Given the description of an element on the screen output the (x, y) to click on. 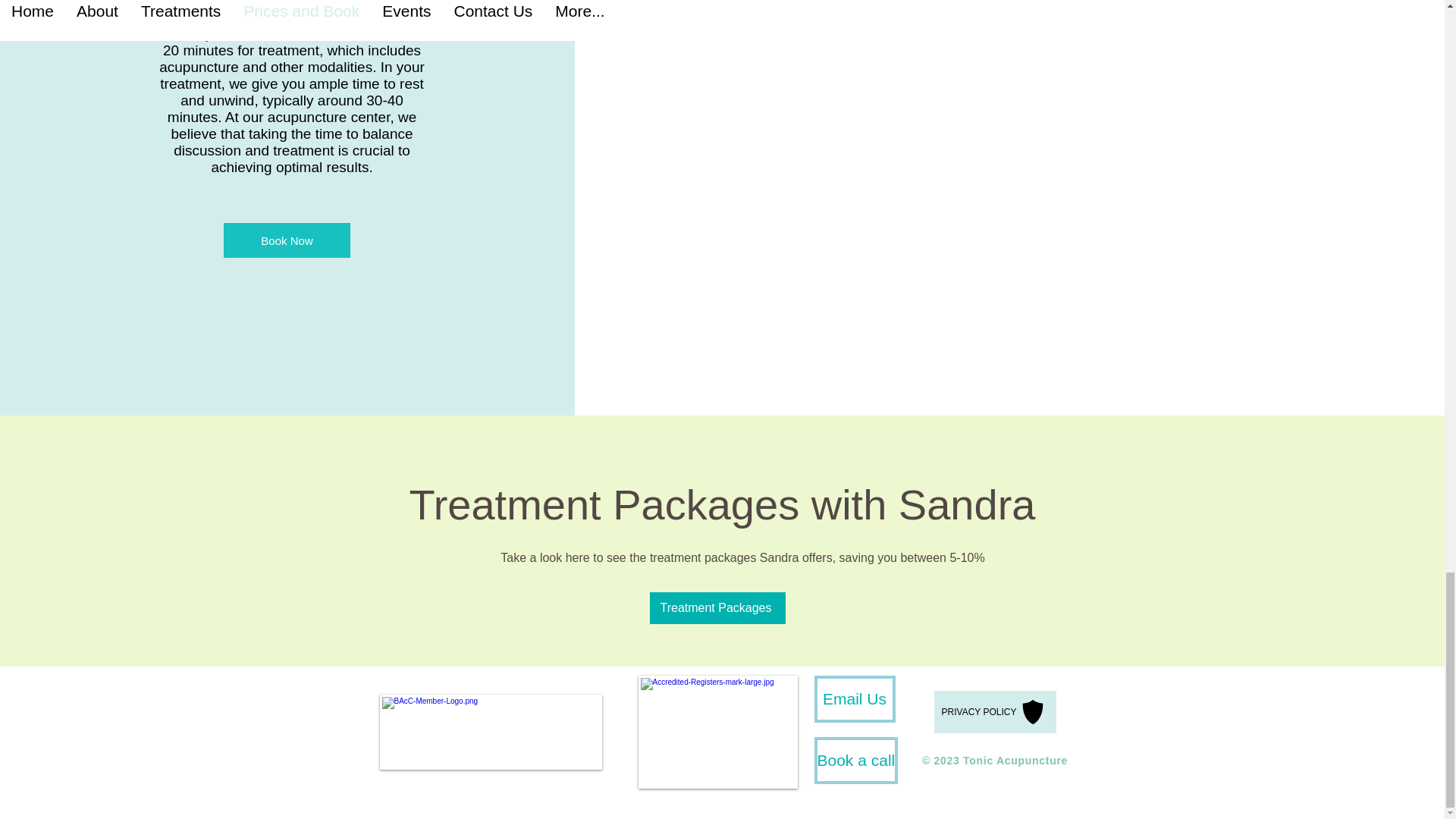
Email Us (854, 698)
Book a call (855, 760)
Treatment Packages (716, 608)
Book Now (287, 239)
PRIVACY POLICY (995, 712)
